Given the description of an element on the screen output the (x, y) to click on. 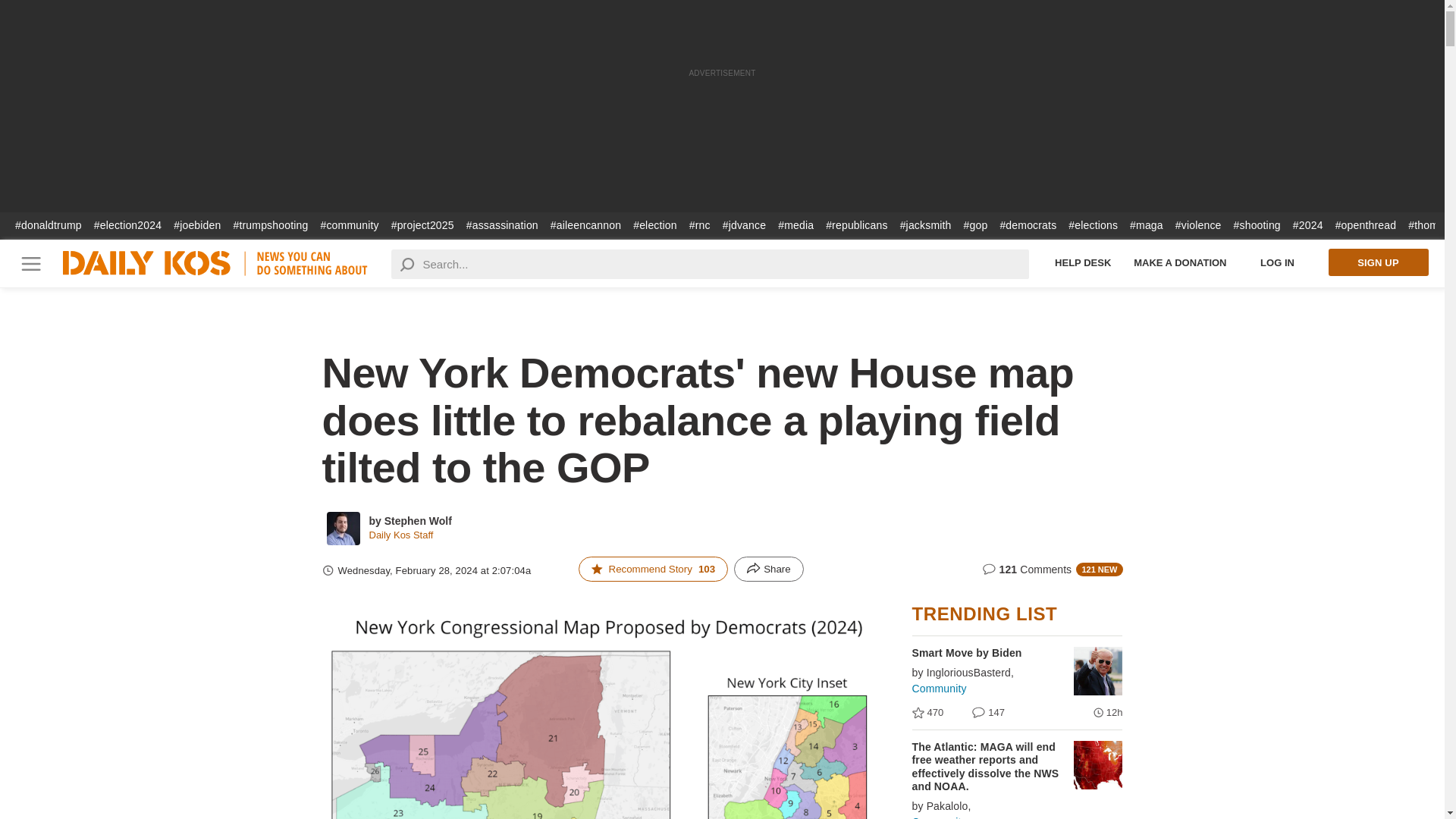
Help Desk (1082, 262)
MAKE A DONATION (1179, 262)
Make a Donation (1179, 262)
